Given the description of an element on the screen output the (x, y) to click on. 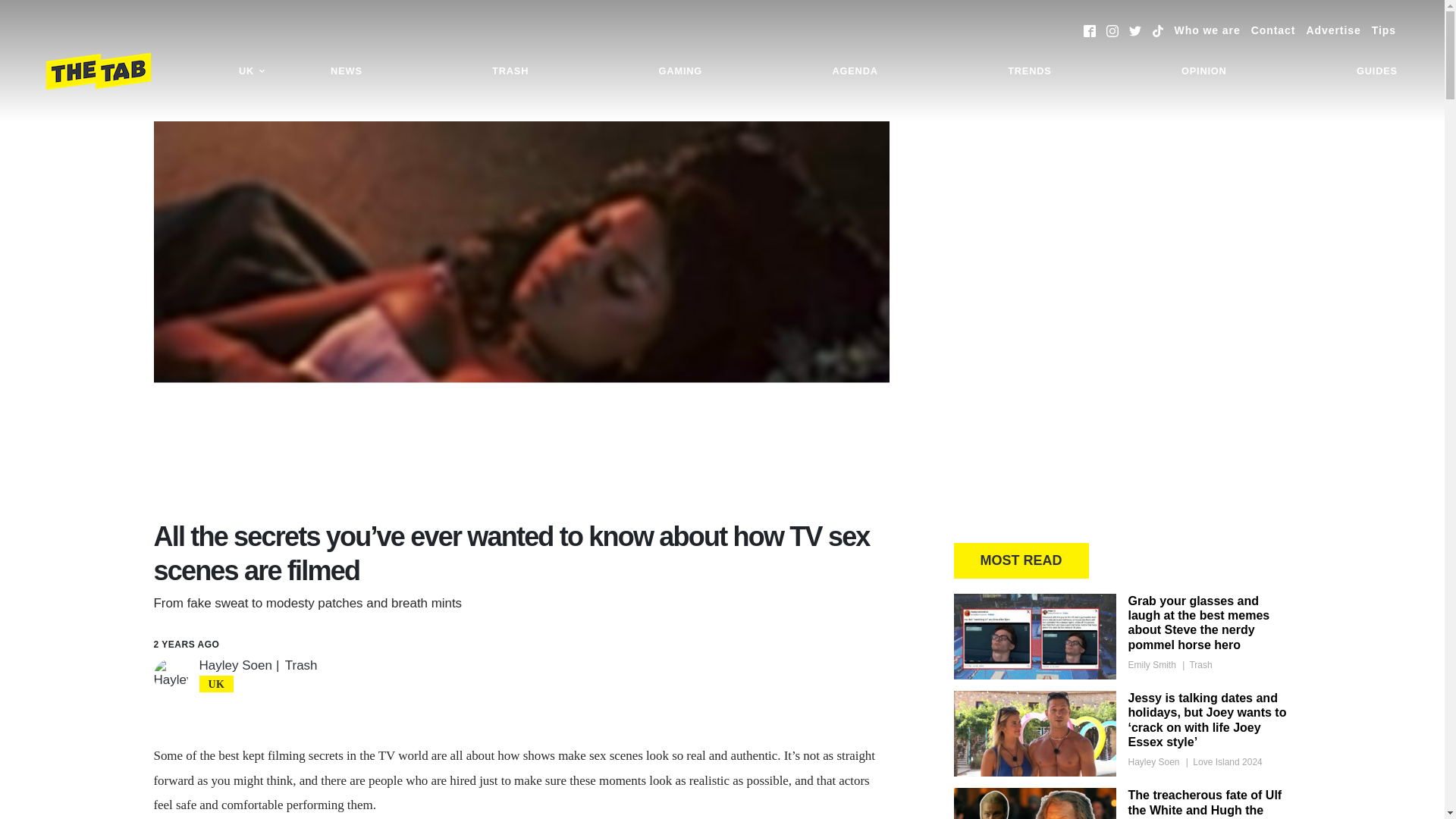
TRASH (510, 71)
Contact (1272, 29)
Who we are (1207, 29)
NEWS (346, 71)
OPINION (1204, 71)
TRENDS (1028, 71)
AGENDA (854, 71)
UK (252, 71)
Advertise (1332, 29)
GUIDES (1377, 71)
Tips (1383, 29)
GAMING (680, 71)
